Given the description of an element on the screen output the (x, y) to click on. 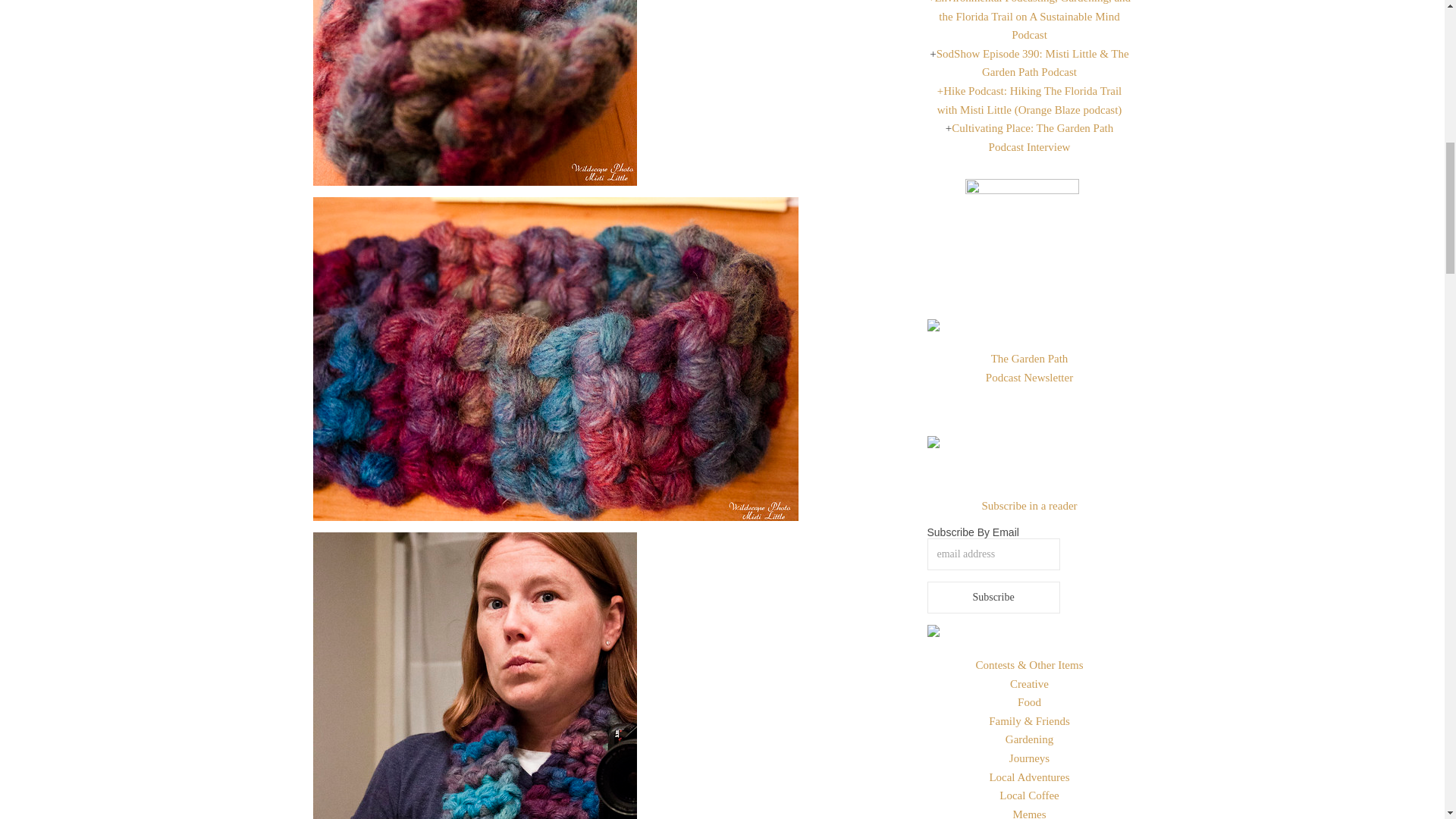
Subscribe (992, 597)
scarf1 by Oceanic Wilderness, on Flickr (605, 92)
Subscribe to my feed (1029, 505)
